Given the description of an element on the screen output the (x, y) to click on. 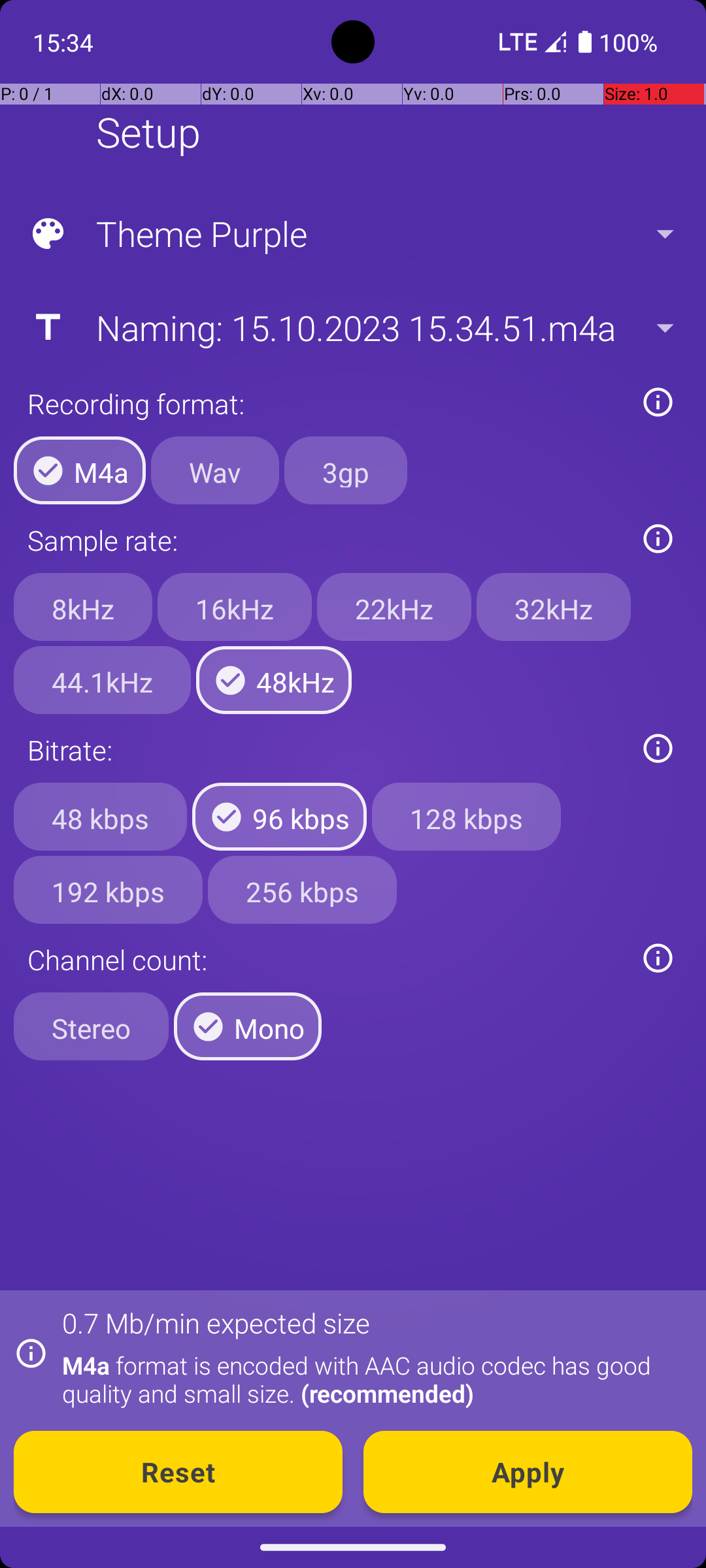
0.7 Mb/min expected size Element type: android.widget.TextView (215, 1322)
Theme Purple Element type: android.widget.TextView (352, 233)
Naming: 15.10.2023 15.34.51.m4a Element type: android.widget.TextView (352, 327)
